Given the description of an element on the screen output the (x, y) to click on. 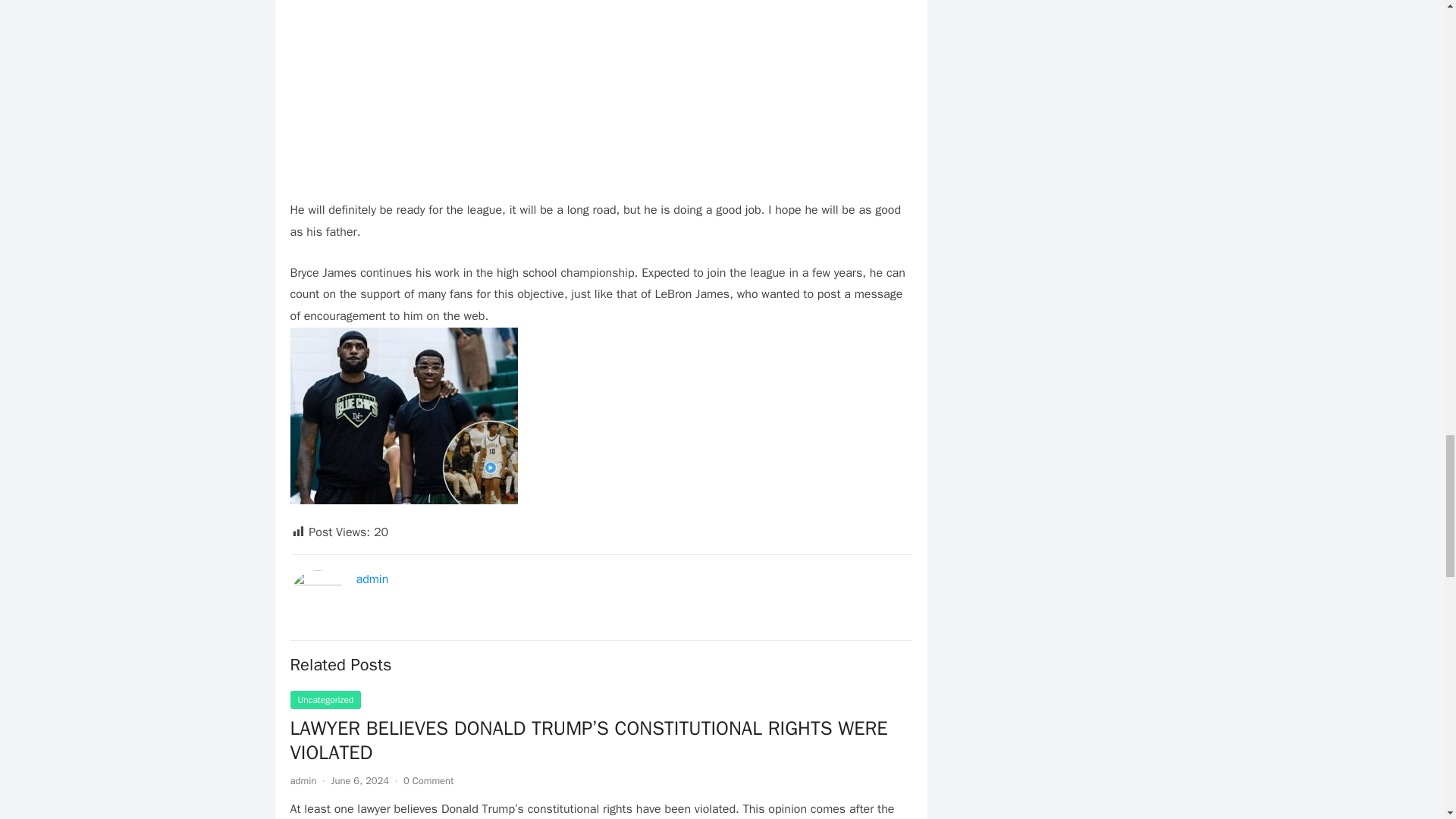
Posts by admin (302, 780)
0 Comment (427, 780)
Uncategorized (325, 700)
admin (302, 780)
admin (372, 579)
X Post (600, 66)
